Given the description of an element on the screen output the (x, y) to click on. 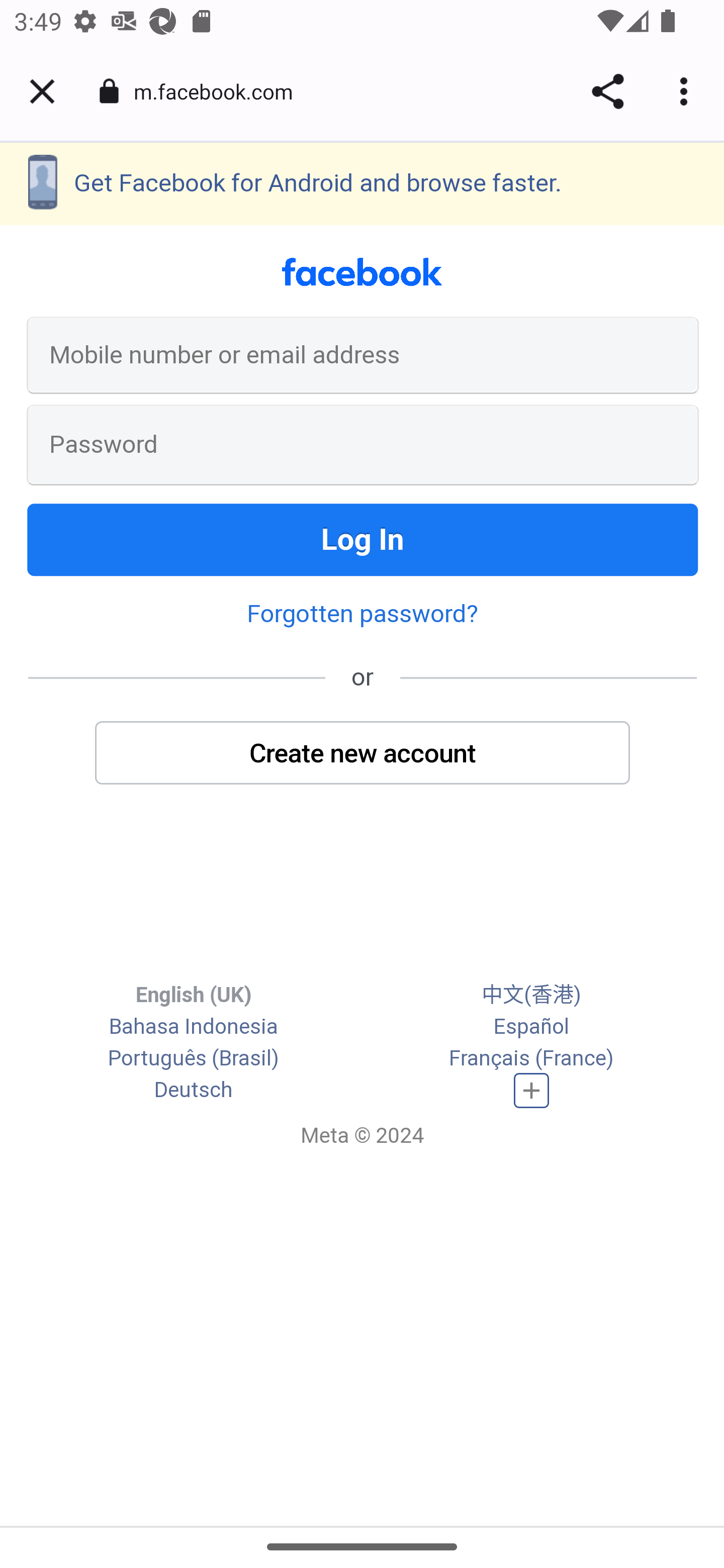
Close tab (42, 91)
Share (607, 91)
More options (687, 91)
Connection is secure (108, 91)
m.facebook.com (219, 90)
Get Facebook for Android and browse faster. (362, 184)
facebook (362, 272)
Log In (363, 540)
Forgotten password? (362, 613)
Create new account (362, 752)
中文(香港) (531, 994)
Bahasa Indonesia (193, 1025)
Español (531, 1025)
Português (Brasil) (193, 1057)
Français (France) (530, 1057)
Complete list of languages (531, 1089)
Deutsch (192, 1089)
